Given the description of an element on the screen output the (x, y) to click on. 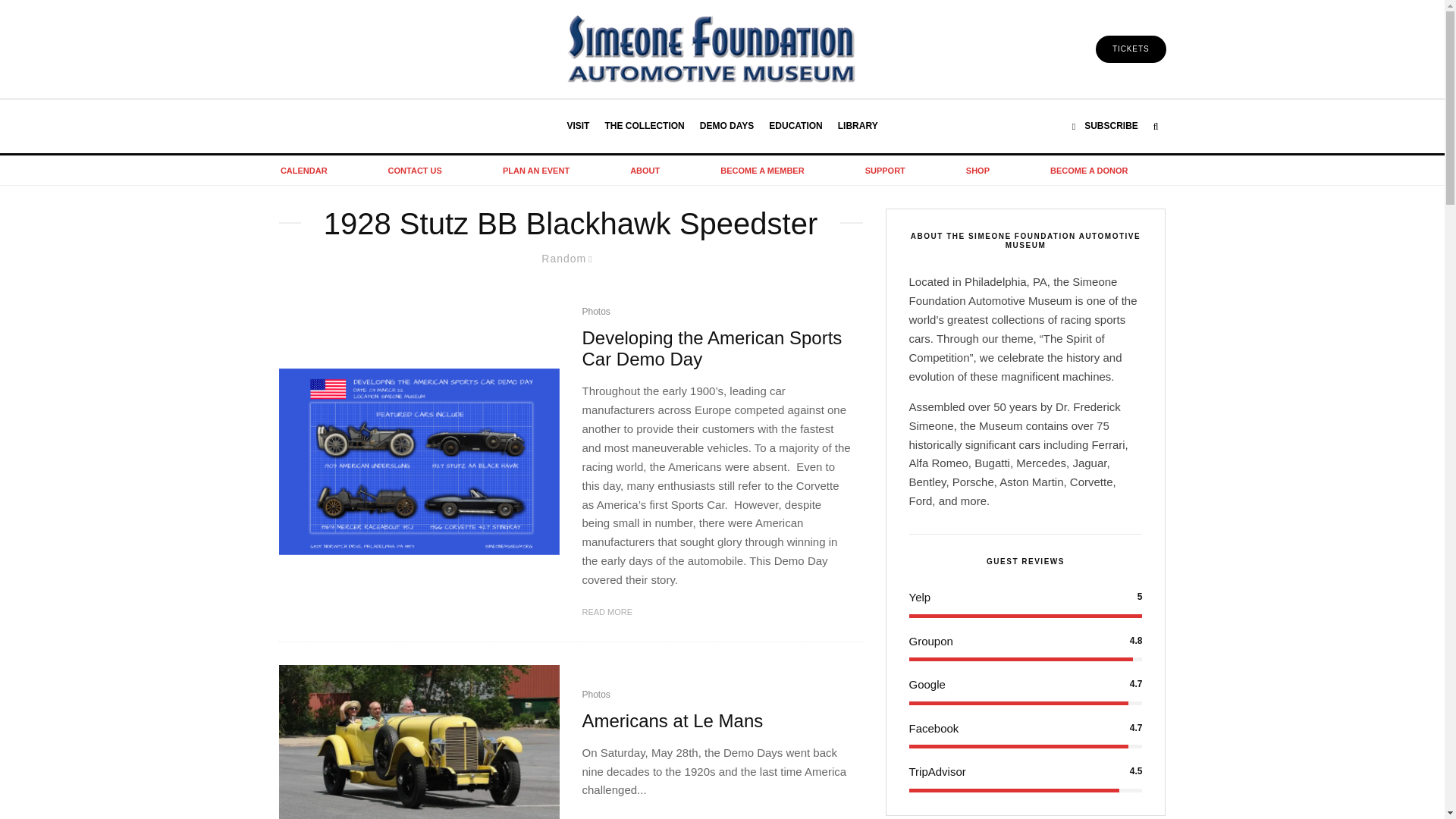
BECOME A DONOR (1088, 170)
Americans at Le Mans (672, 721)
Developing the American Sports Car Demo Day (716, 349)
SUPPORT (885, 170)
SHOP (978, 170)
Photos (596, 312)
CALENDAR (304, 170)
PLAN AN EVENT (535, 170)
SUBSCRIBE (1104, 126)
THE COLLECTION (643, 126)
BECOME A MEMBER (762, 170)
TICKETS (1131, 49)
DEMO DAYS (727, 126)
CONTACT US (414, 170)
Photos (596, 694)
